Given the description of an element on the screen output the (x, y) to click on. 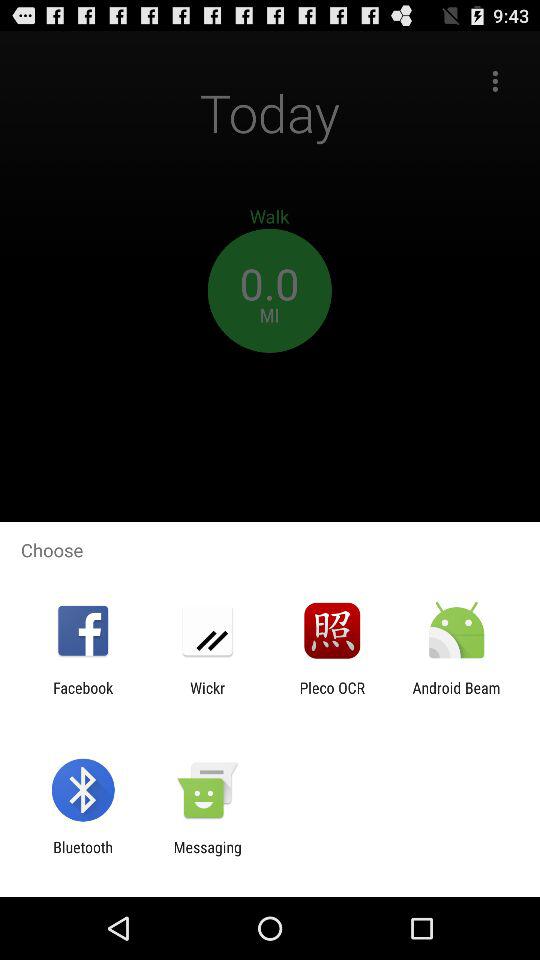
flip to wickr item (207, 696)
